Given the description of an element on the screen output the (x, y) to click on. 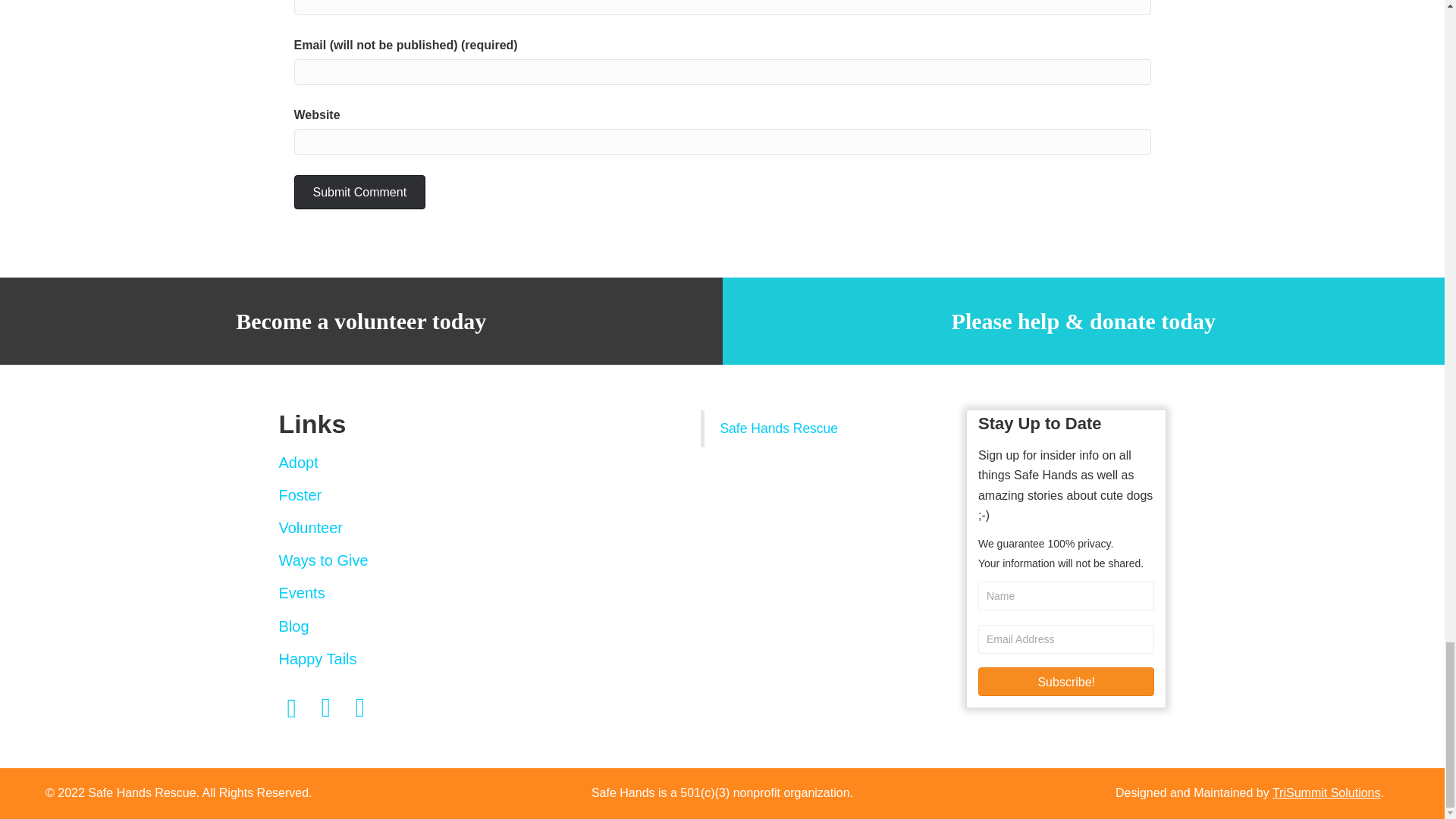
Submit Comment (360, 192)
YouTube (360, 707)
Facebook (292, 707)
Instagram (326, 707)
 Become a volunteer today (360, 320)
